Given the description of an element on the screen output the (x, y) to click on. 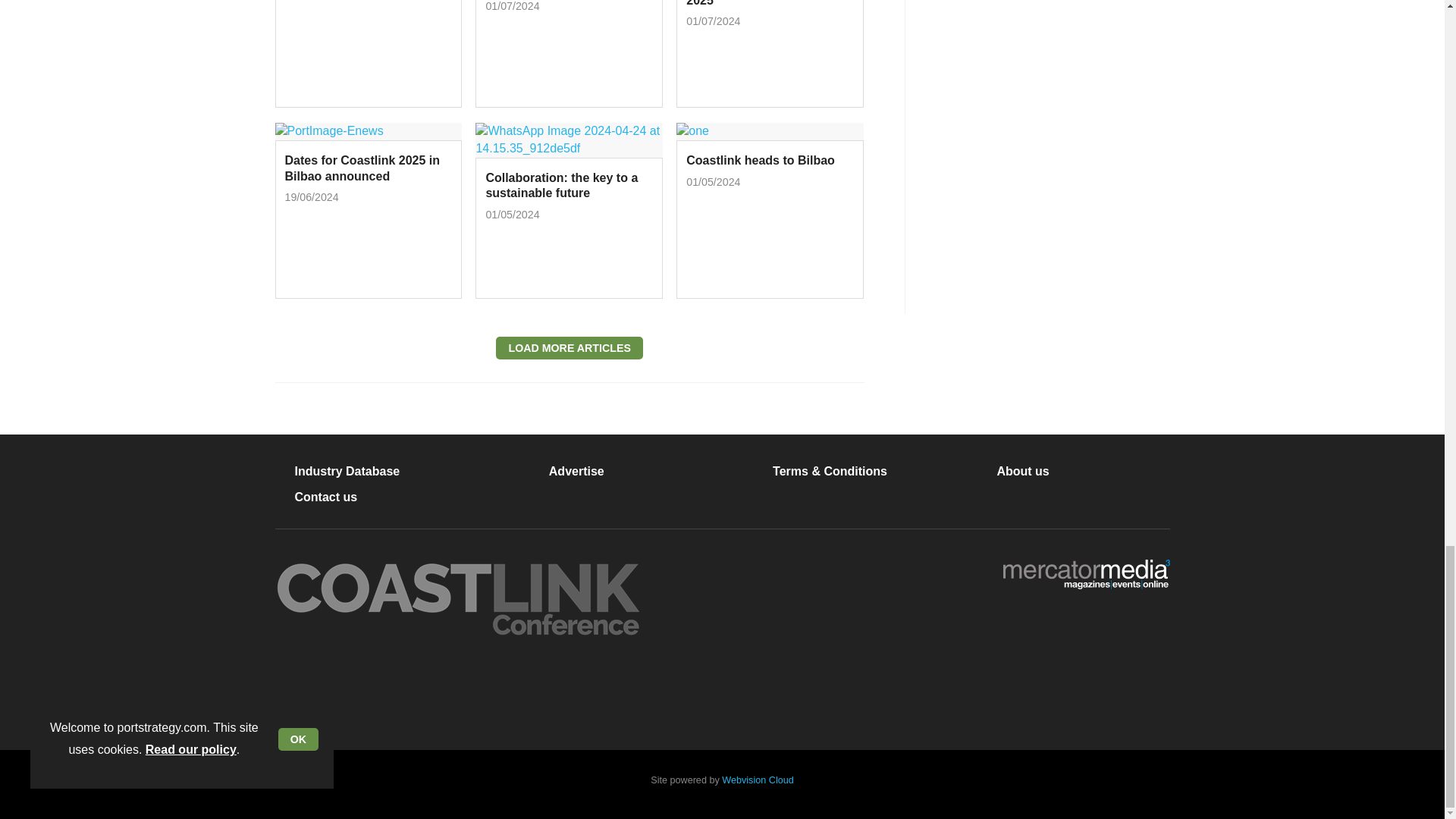
Connect with us on Facebook (297, 691)
Connect with us on Linked In (394, 691)
Email us (444, 691)
Connect with us on Twitter (346, 691)
Connect with us on Youtube (492, 691)
